Given the description of an element on the screen output the (x, y) to click on. 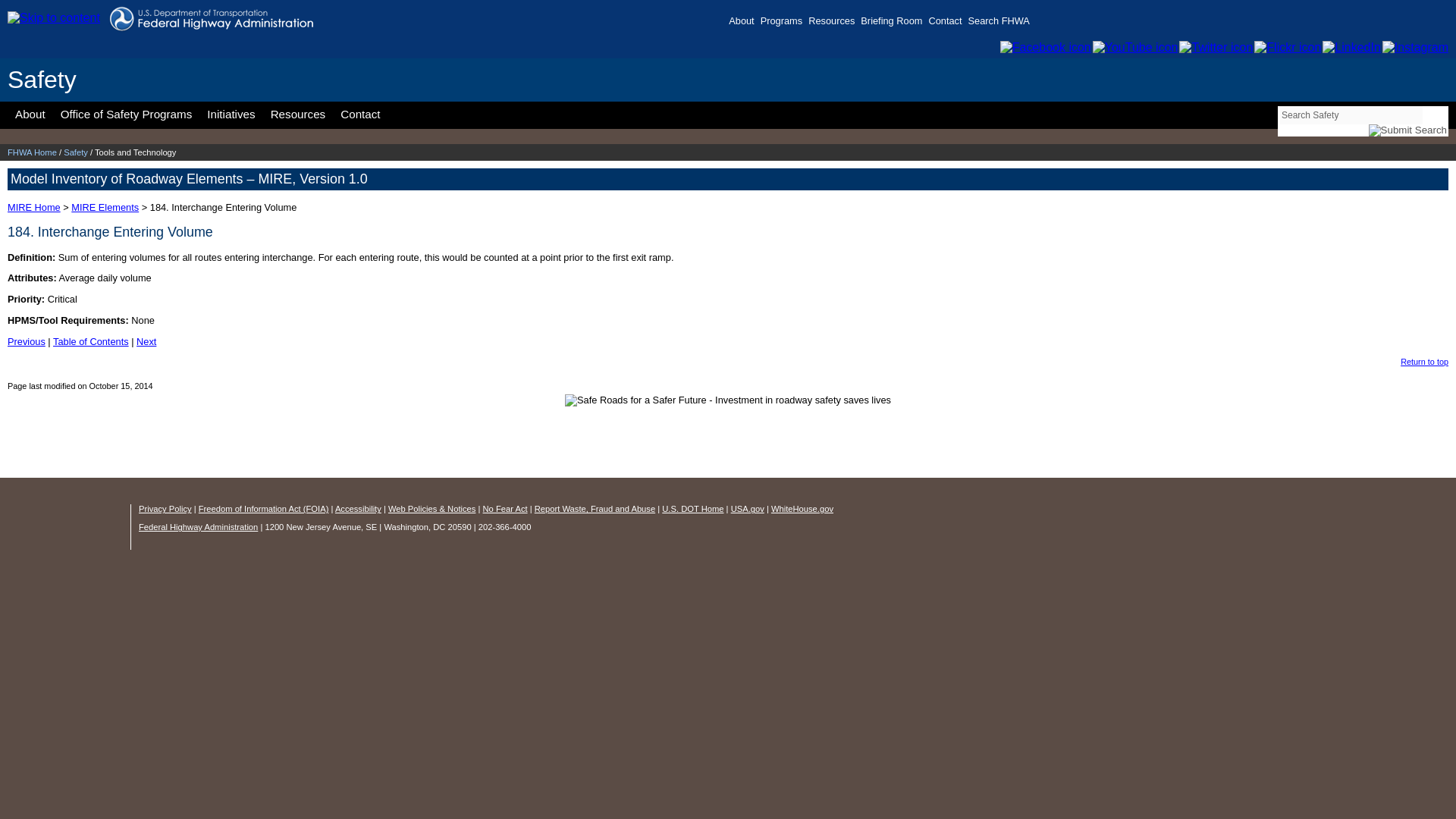
About (744, 23)
Search Safety (1350, 115)
Resources (834, 23)
Programs (784, 23)
Watch Us on YouTube (1133, 47)
Like Us on Facebook (1044, 47)
Search Safety (1350, 115)
Briefing Room (894, 23)
Follow Us on Twitter (1214, 47)
Search (1408, 130)
